Given the description of an element on the screen output the (x, y) to click on. 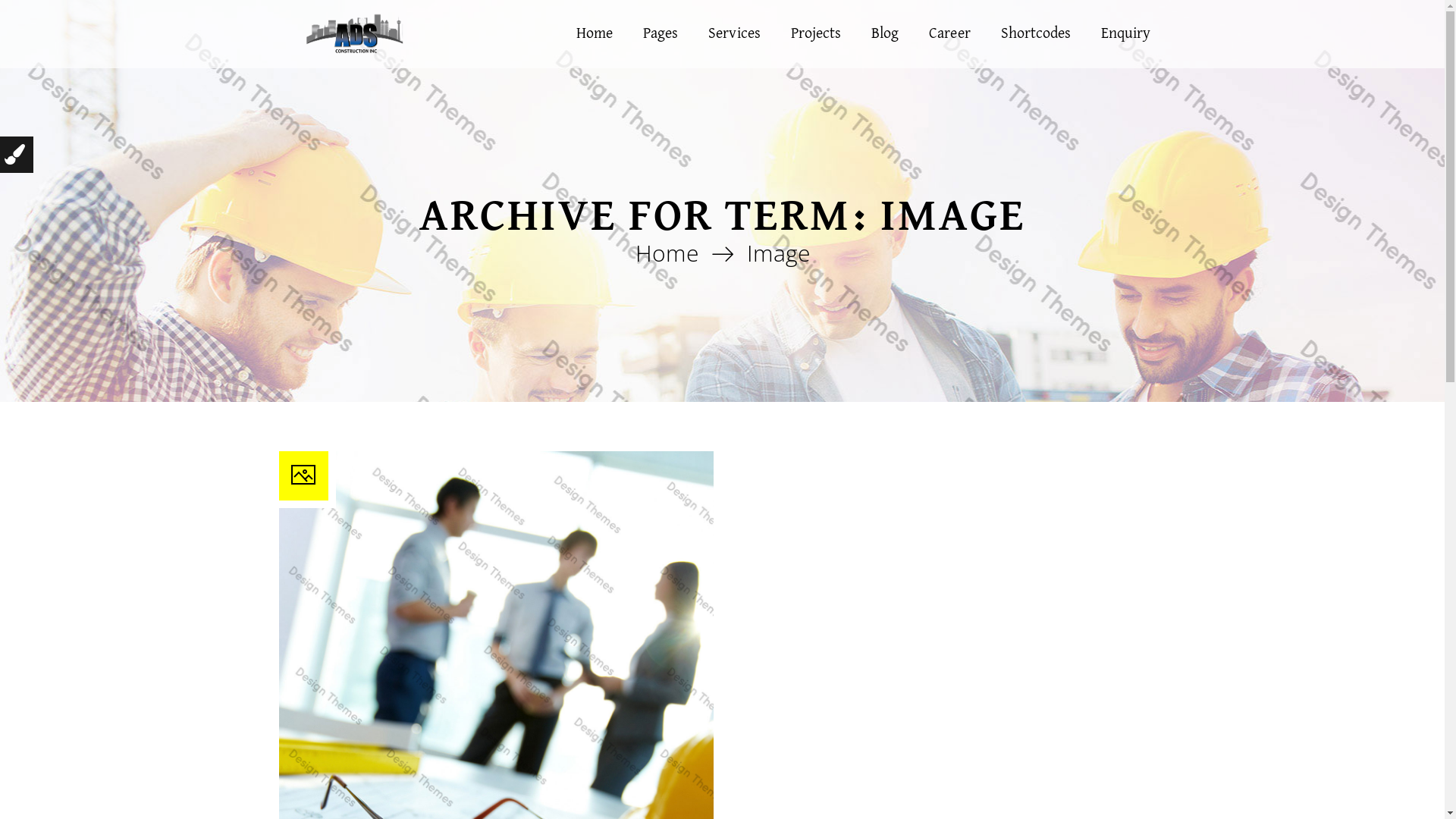
Enquiry Element type: text (1125, 34)
Home Element type: text (594, 34)
Services Element type: text (734, 34)
Shortcodes Element type: text (1035, 34)
Blog Element type: text (884, 34)
Projects Element type: text (815, 34)
Career Element type: text (949, 34)
Image Element type: text (777, 252)
Home Element type: text (666, 252)
Pages Element type: text (660, 34)
My Blog Element type: hover (357, 33)
